Given the description of an element on the screen output the (x, y) to click on. 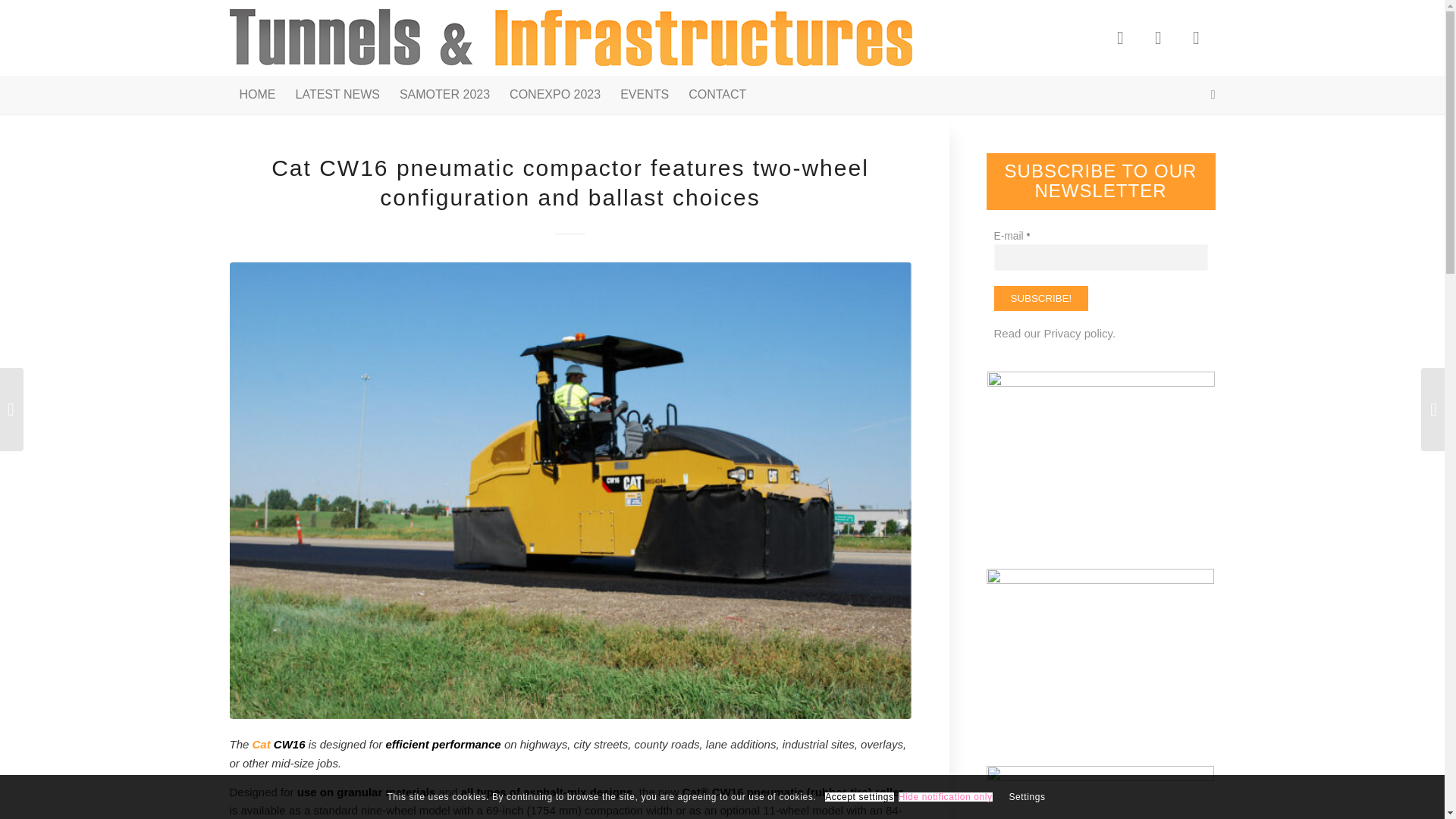
Twitter (1158, 37)
SUBSCRIBE! (1039, 298)
EVENTS (644, 94)
LATEST NEWS (336, 94)
LinkedIn (1196, 37)
HOME (256, 94)
Cat (260, 744)
SAMOTER 2023 (444, 94)
CONEXPO 2023 (554, 94)
Facebook (1119, 37)
CONTACT (716, 94)
Tunnels-logo-2020-2 (569, 38)
